Given the description of an element on the screen output the (x, y) to click on. 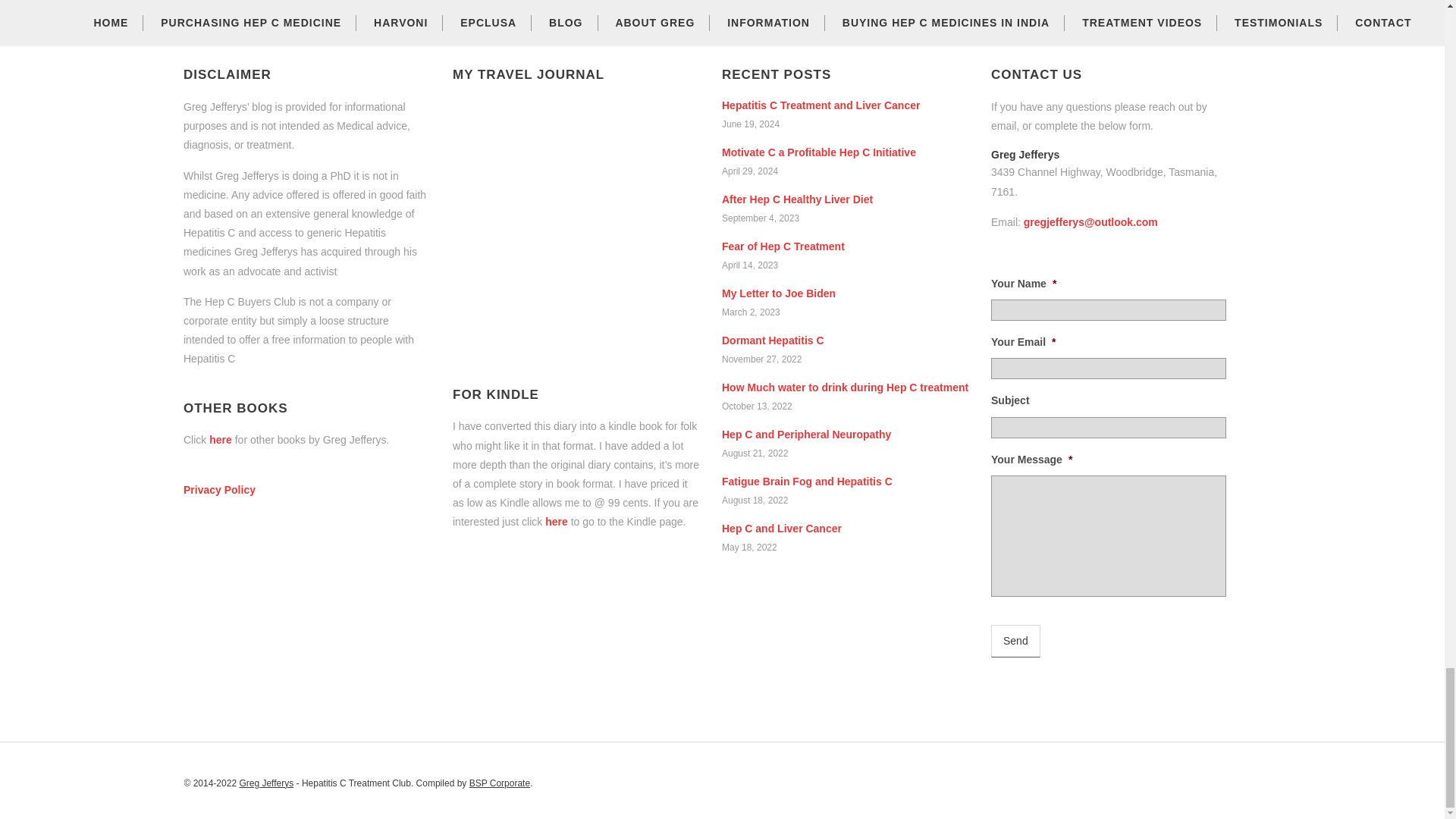
My Travel Journal (576, 226)
Facebook (1248, 778)
Send (1016, 640)
